Given the description of an element on the screen output the (x, y) to click on. 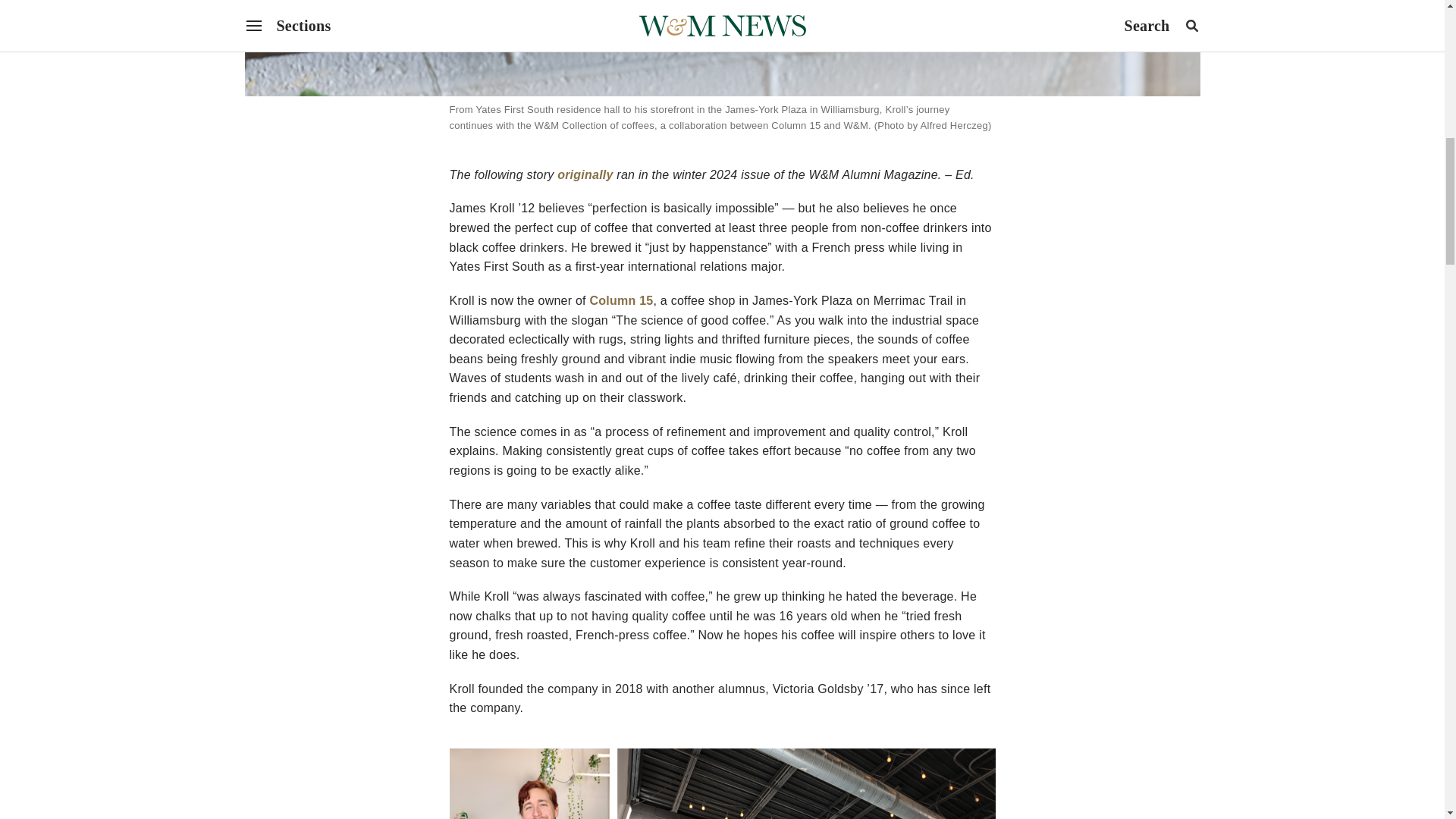
originally (584, 174)
Column 15 (621, 300)
